Given the description of an element on the screen output the (x, y) to click on. 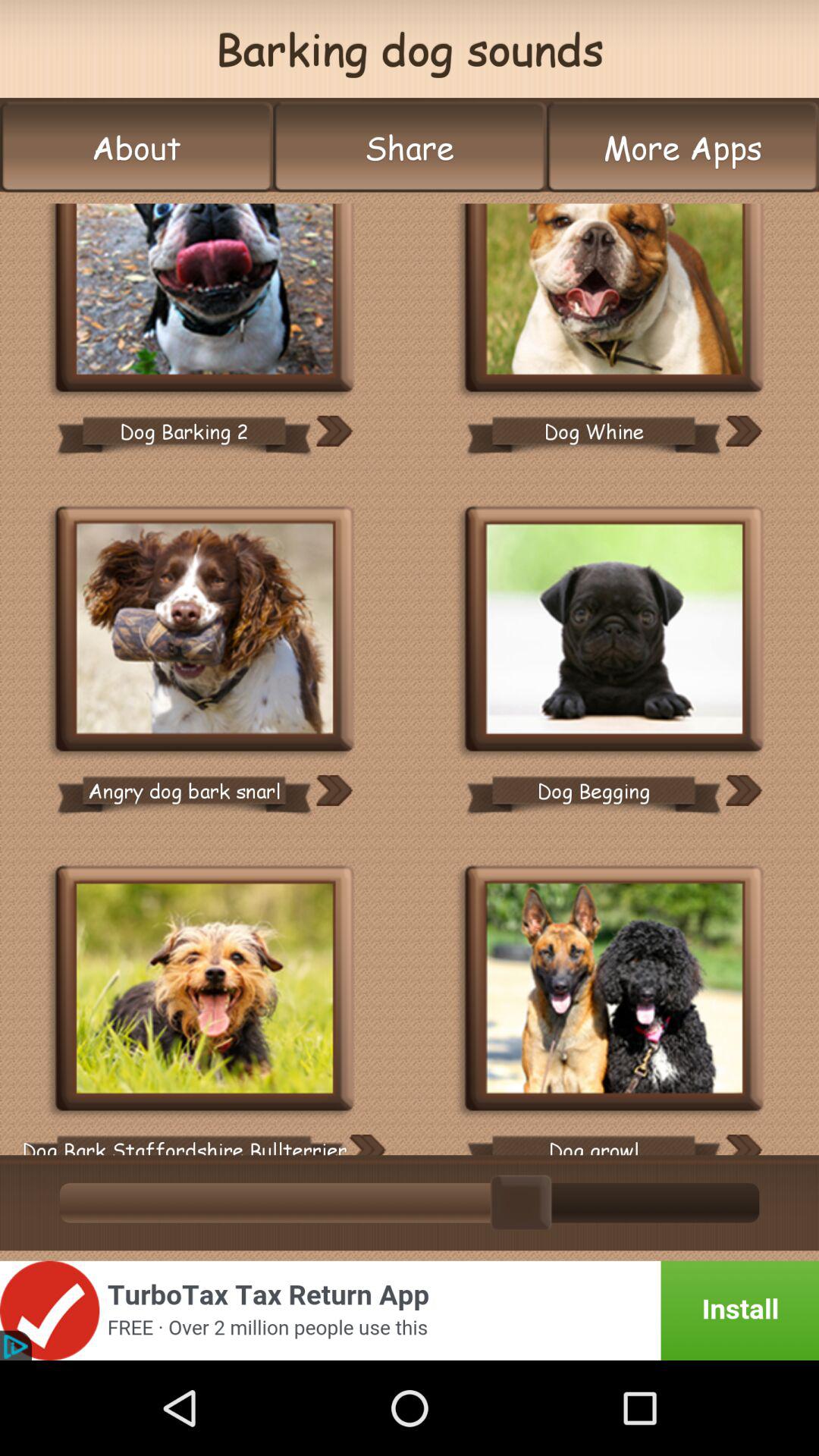
launch the dog growl icon (593, 1139)
